Given the description of an element on the screen output the (x, y) to click on. 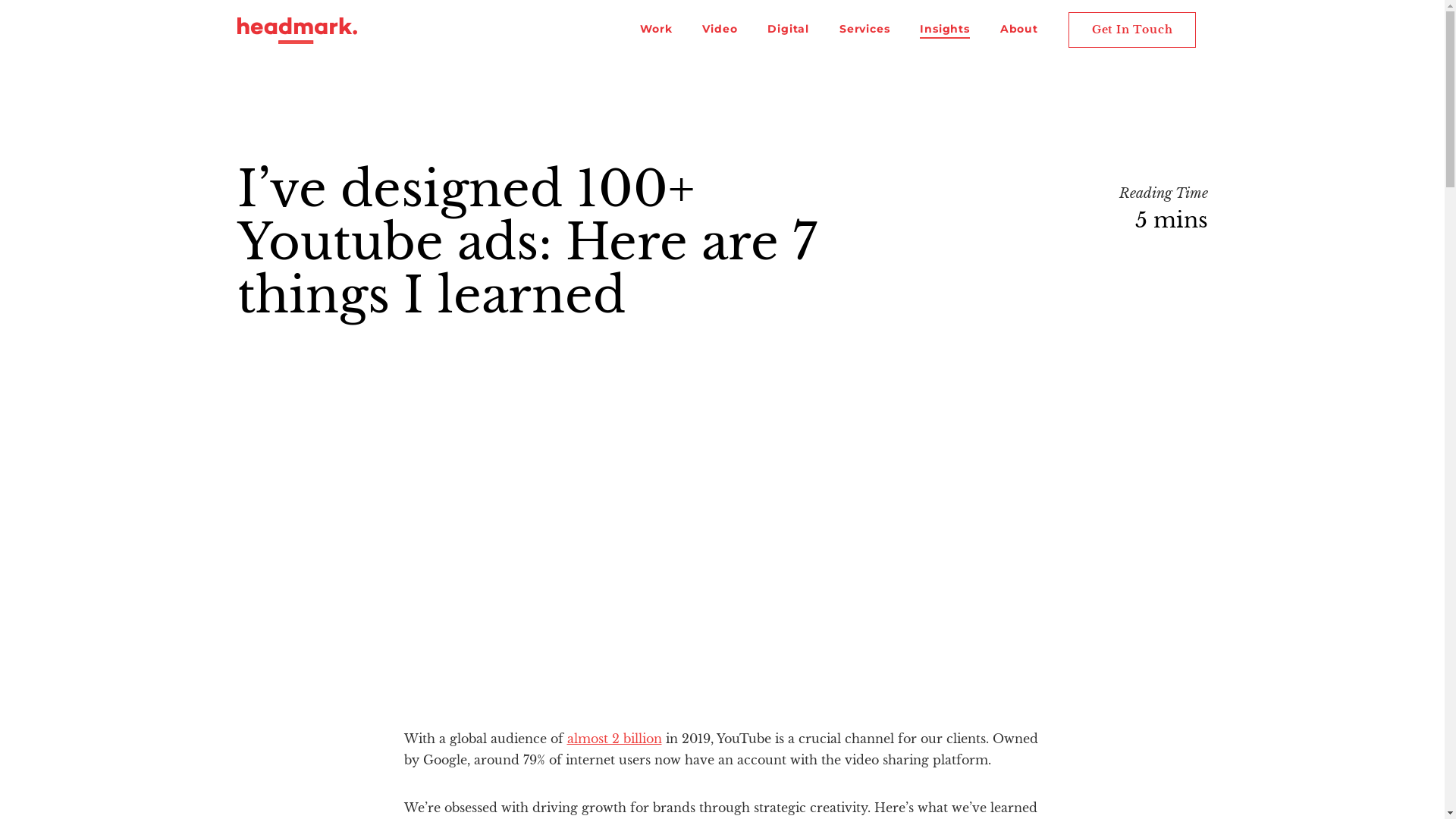
About Element type: text (1019, 29)
Video Element type: text (719, 29)
Insights Element type: text (944, 29)
Services Element type: text (864, 29)
Get In Touch Element type: text (1132, 29)
almost 2 billion Element type: text (614, 738)
Work Element type: text (655, 29)
Digital Element type: text (788, 29)
